Given the description of an element on the screen output the (x, y) to click on. 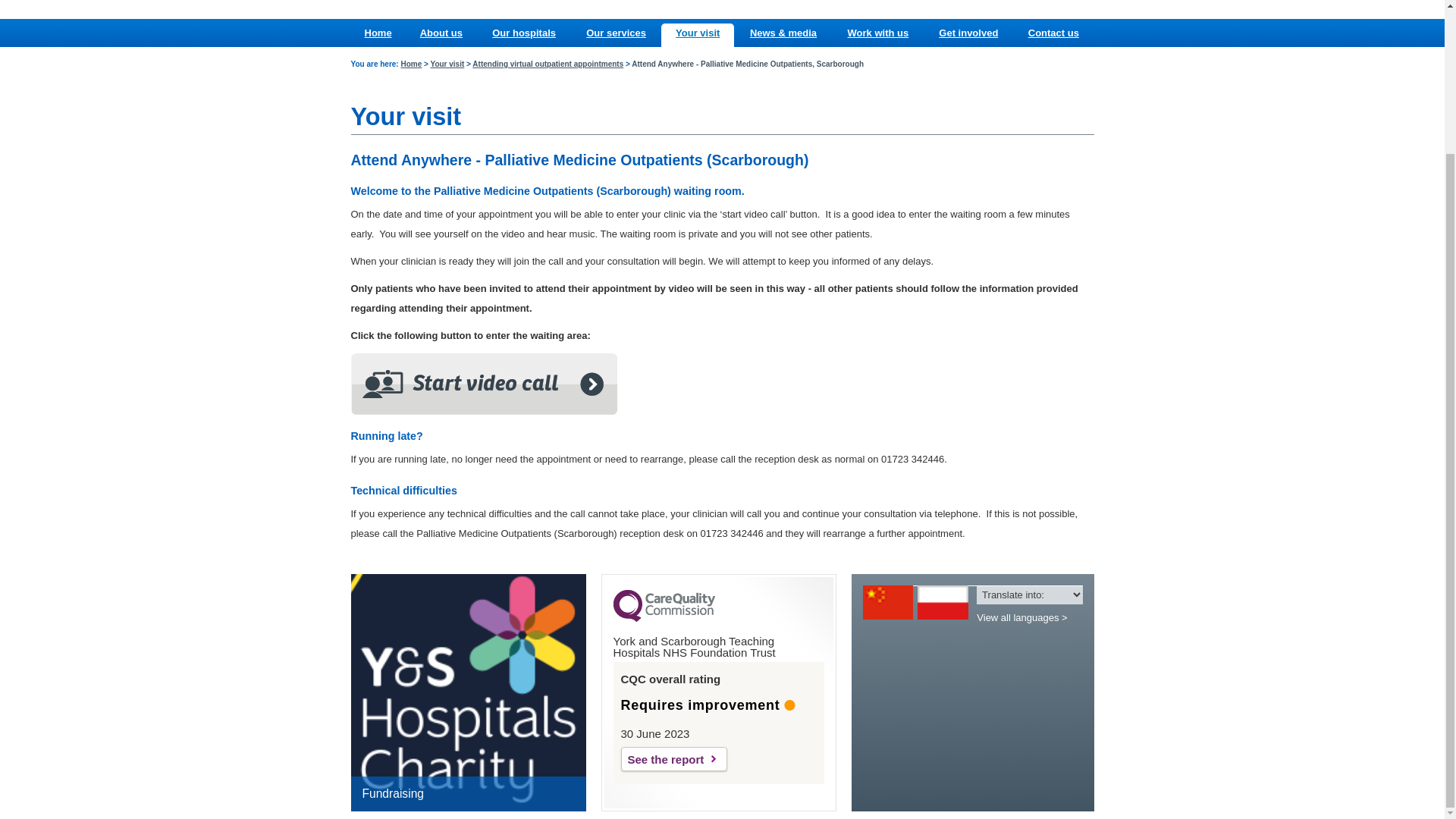
Our hospitals (523, 32)
Attending virtual outpatient appointments (547, 63)
Home (411, 63)
Your visit (697, 32)
CQC Logo (663, 617)
Home (377, 32)
Your visit (446, 63)
Get involved (968, 32)
Our services (615, 32)
Work with us (877, 32)
